Given the description of an element on the screen output the (x, y) to click on. 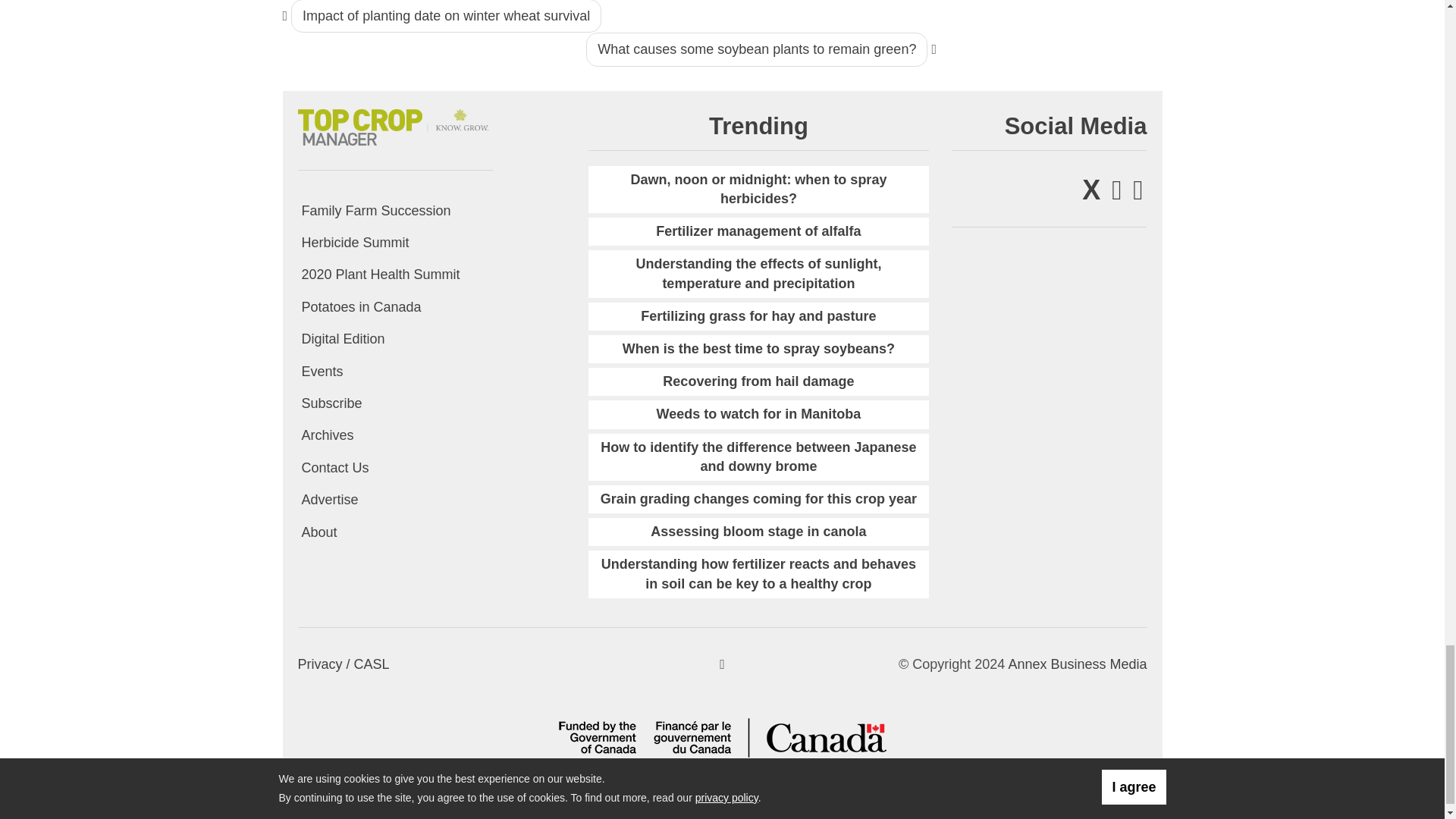
Annex Business Media (1077, 663)
Top Crop Manager (395, 124)
